Given the description of an element on the screen output the (x, y) to click on. 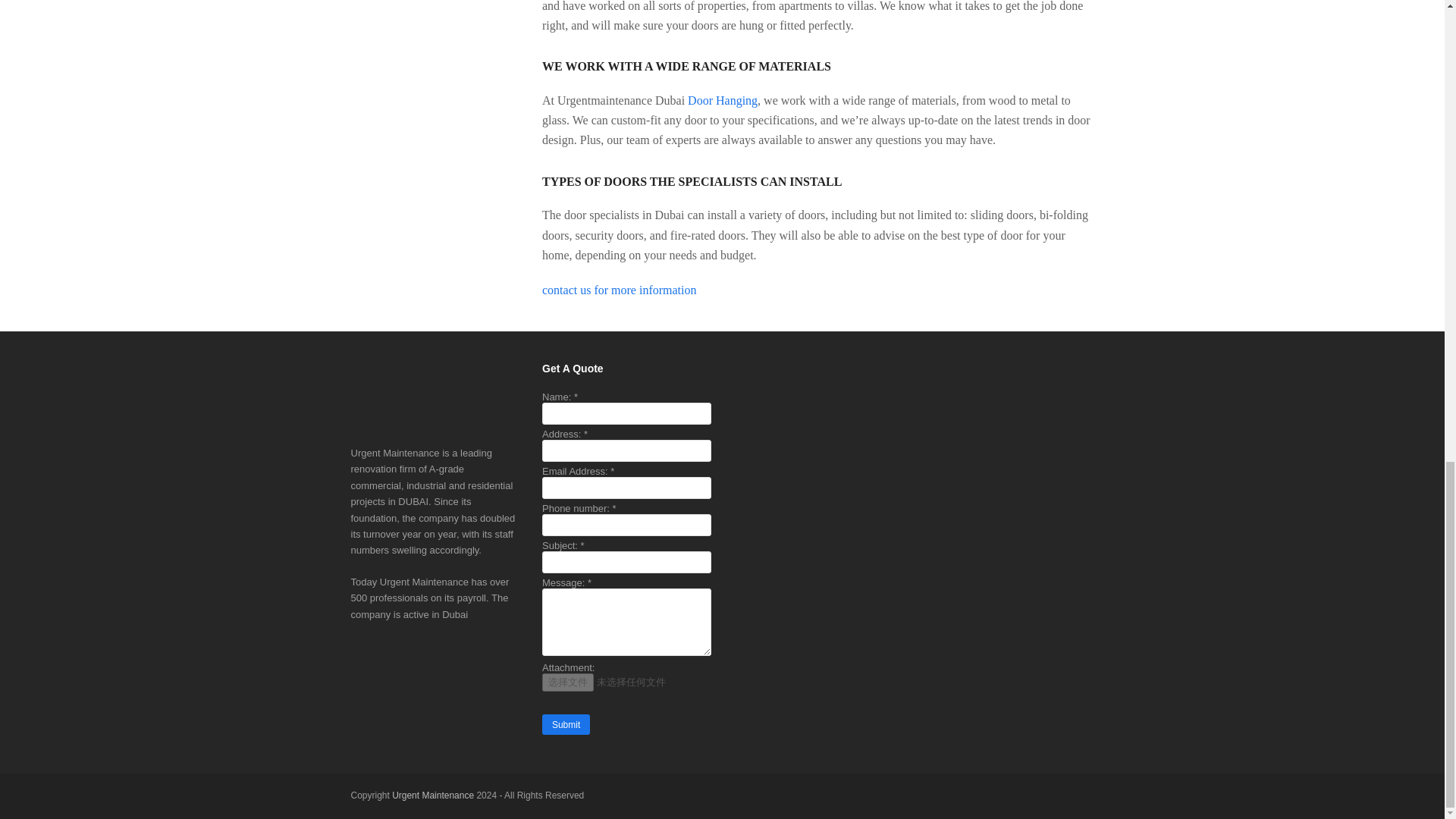
contact us for more information  (620, 289)
Submit (565, 724)
Urgent Maintenance (432, 795)
Door Hanging (722, 100)
Submit (565, 724)
